Given the description of an element on the screen output the (x, y) to click on. 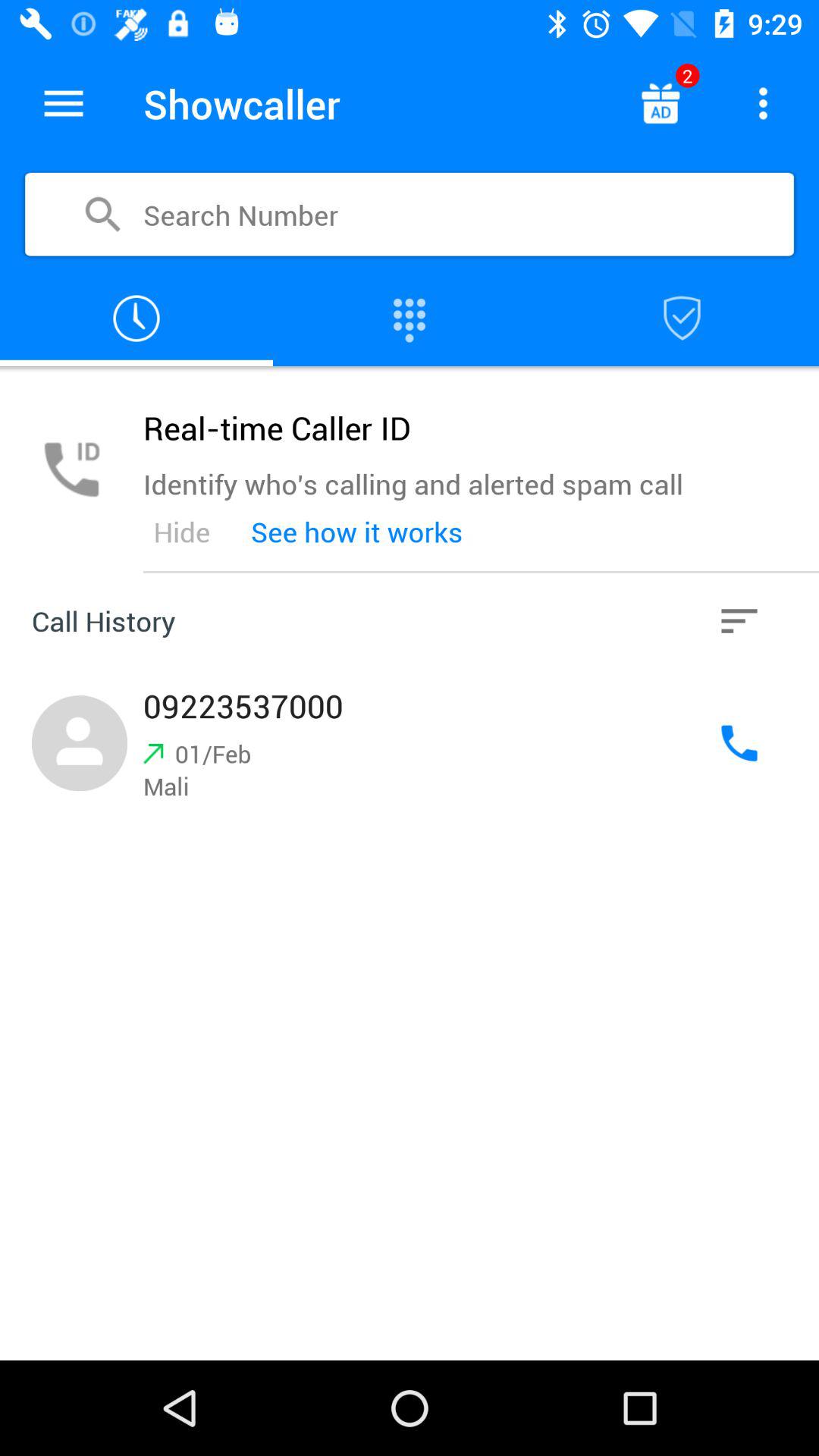
options menu (63, 103)
